Given the description of an element on the screen output the (x, y) to click on. 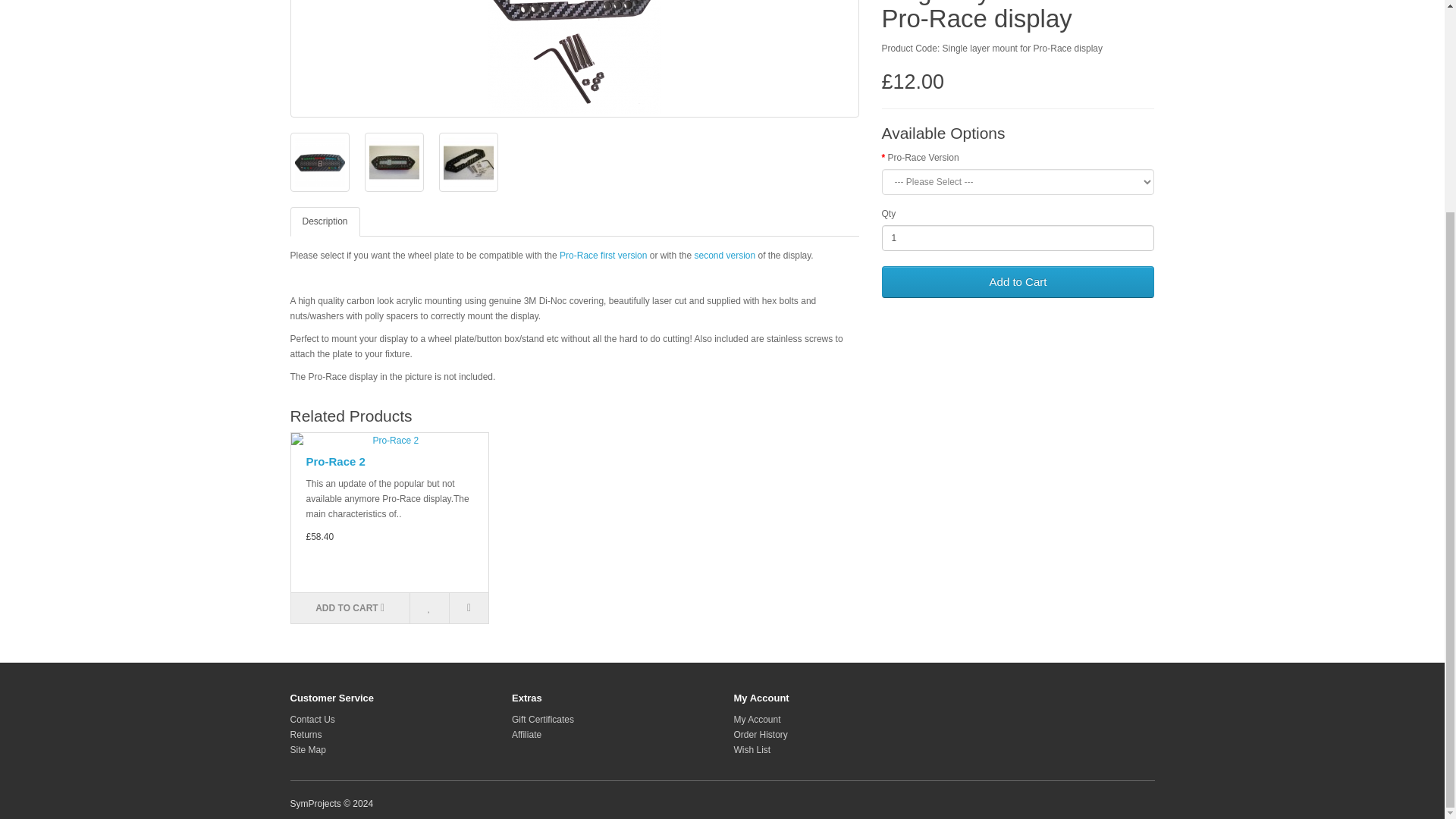
Single layer mount for Pro-Race display (393, 162)
Pro-Race 2 (390, 440)
Single layer mount for Pro-Race display (319, 161)
Single layer mount for Pro-Race display (318, 162)
Single layer mount for Pro-Race display (574, 56)
Single layer mount for Pro-Race display (467, 162)
Pro-Race first version (602, 255)
Description (324, 221)
1 (1017, 237)
Single layer mount for Pro-Race display (467, 161)
